Given the description of an element on the screen output the (x, y) to click on. 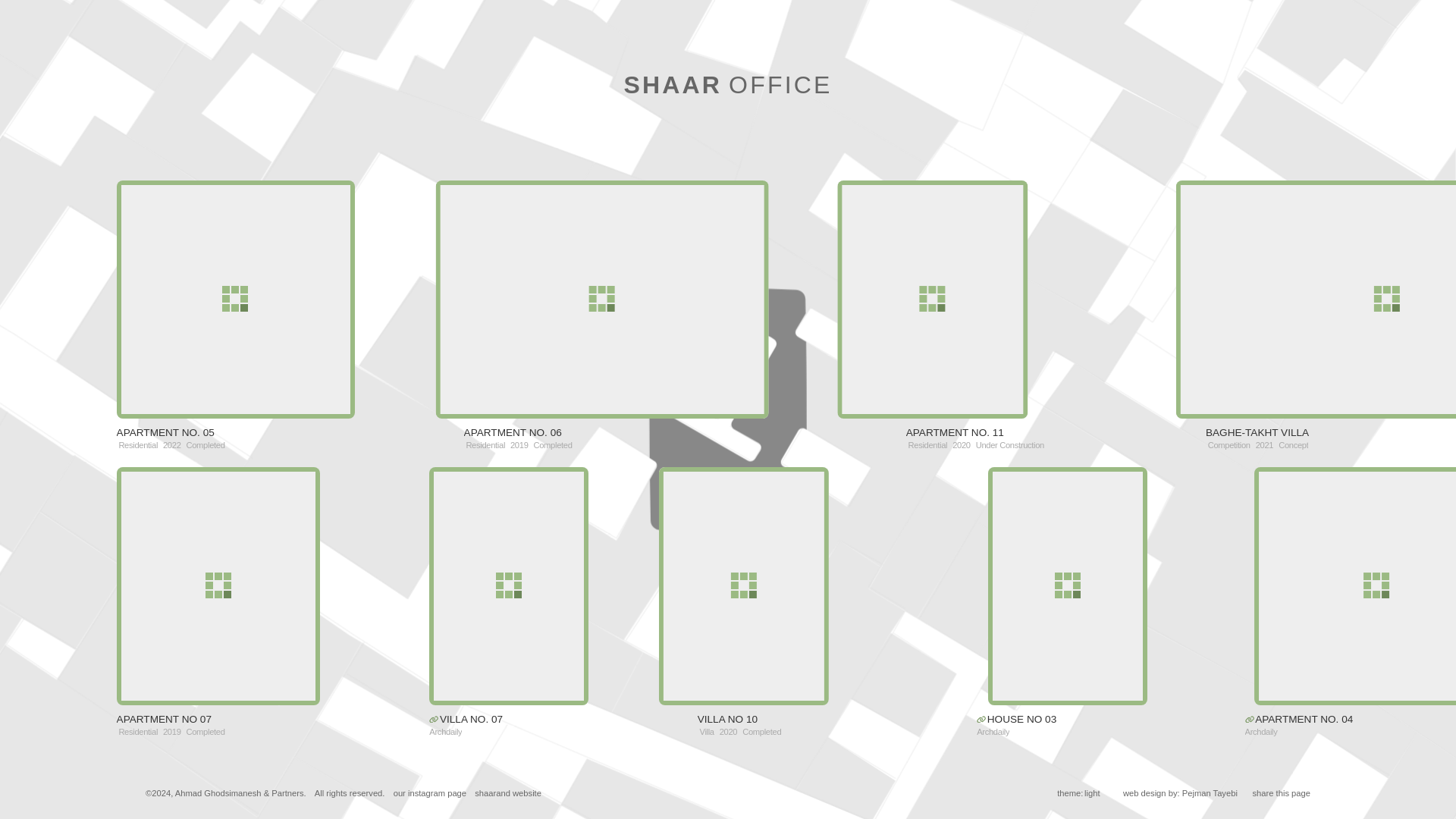
web design and development by: Pejman Tayebi (630, 299)
SHAAR OFFICE (235, 299)
